Given the description of an element on the screen output the (x, y) to click on. 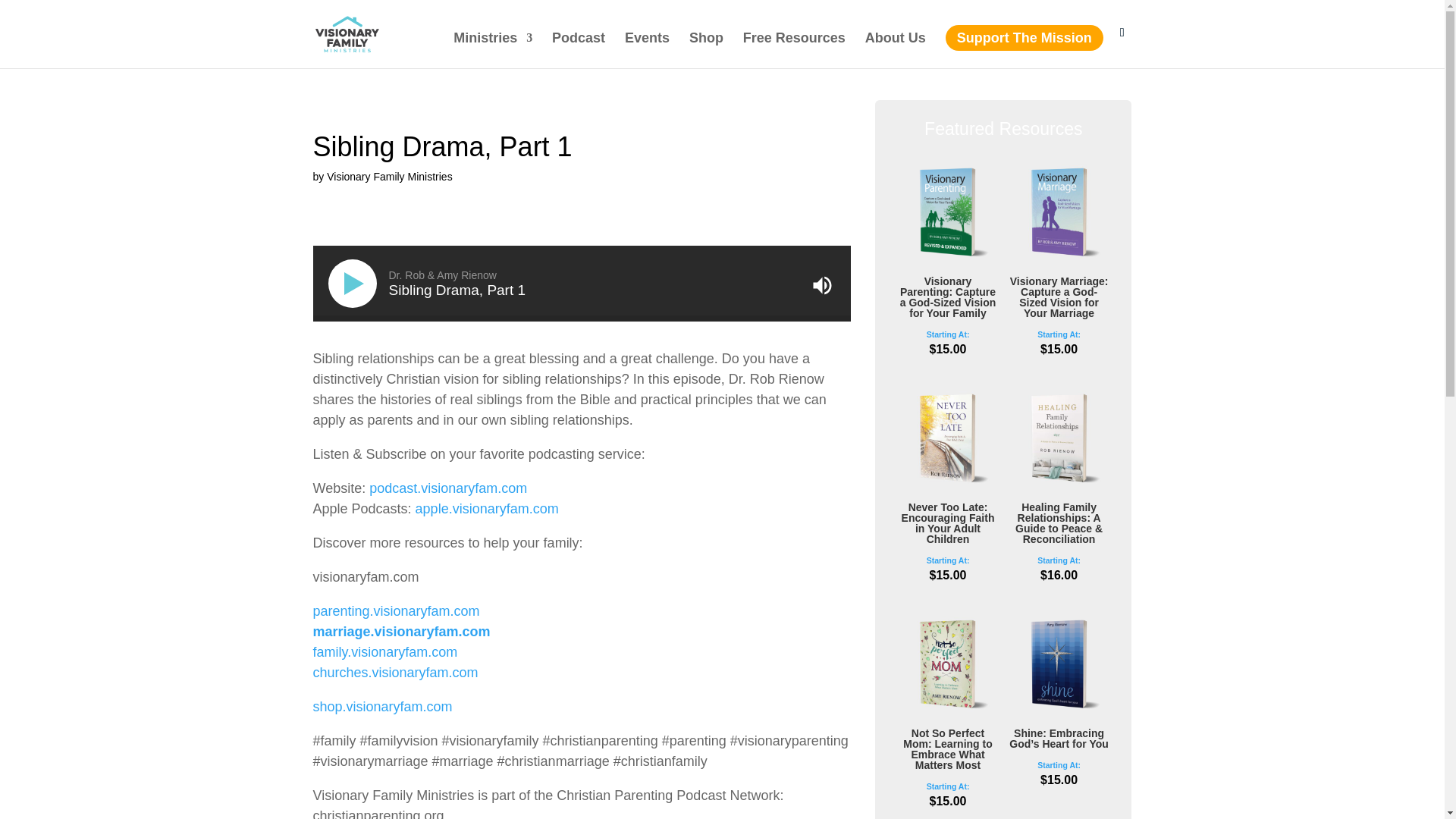
Podcast (578, 49)
About Us (895, 49)
marriage.visionaryfam.com (401, 631)
Events (646, 49)
Posts by Visionary Family Ministries (388, 176)
Visionary Family Ministries (388, 176)
Free Resources (793, 49)
parenting.visionaryfam.com (396, 611)
Shop (705, 49)
apple.visionaryfam.com (486, 508)
Support The Mission (1023, 37)
podcast.visionaryfam.com (448, 488)
Ministries (492, 49)
